Given the description of an element on the screen output the (x, y) to click on. 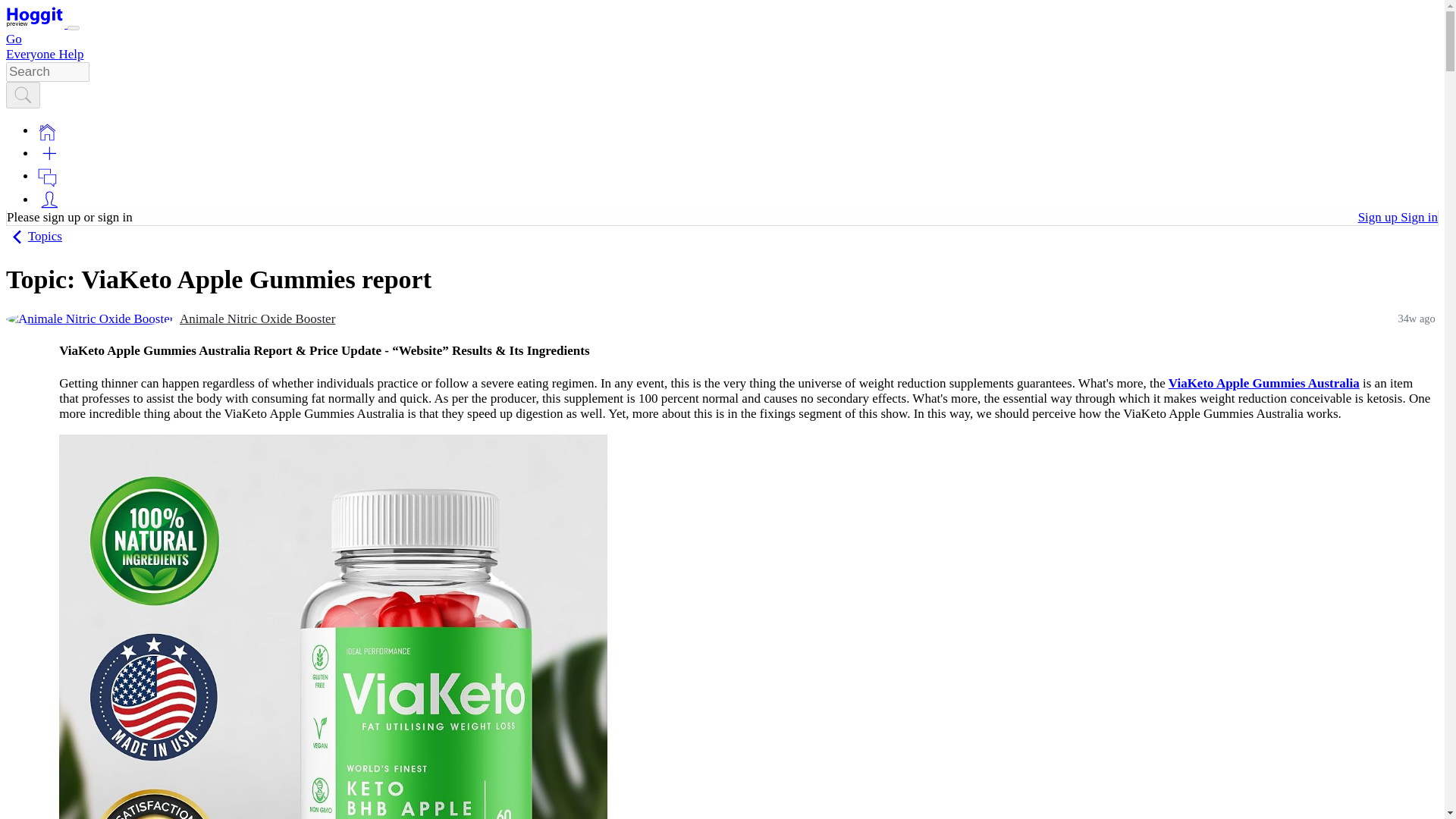
Back (16, 237)
My Hoggit (49, 199)
Notifications (47, 175)
Search (22, 95)
Notifications (47, 177)
Animale Nitric Oxide Booster (256, 318)
BackTopics (33, 236)
Hoggit home page (34, 16)
Help (70, 53)
ViaKeto Apple Gummies Australia (1264, 382)
